Given the description of an element on the screen output the (x, y) to click on. 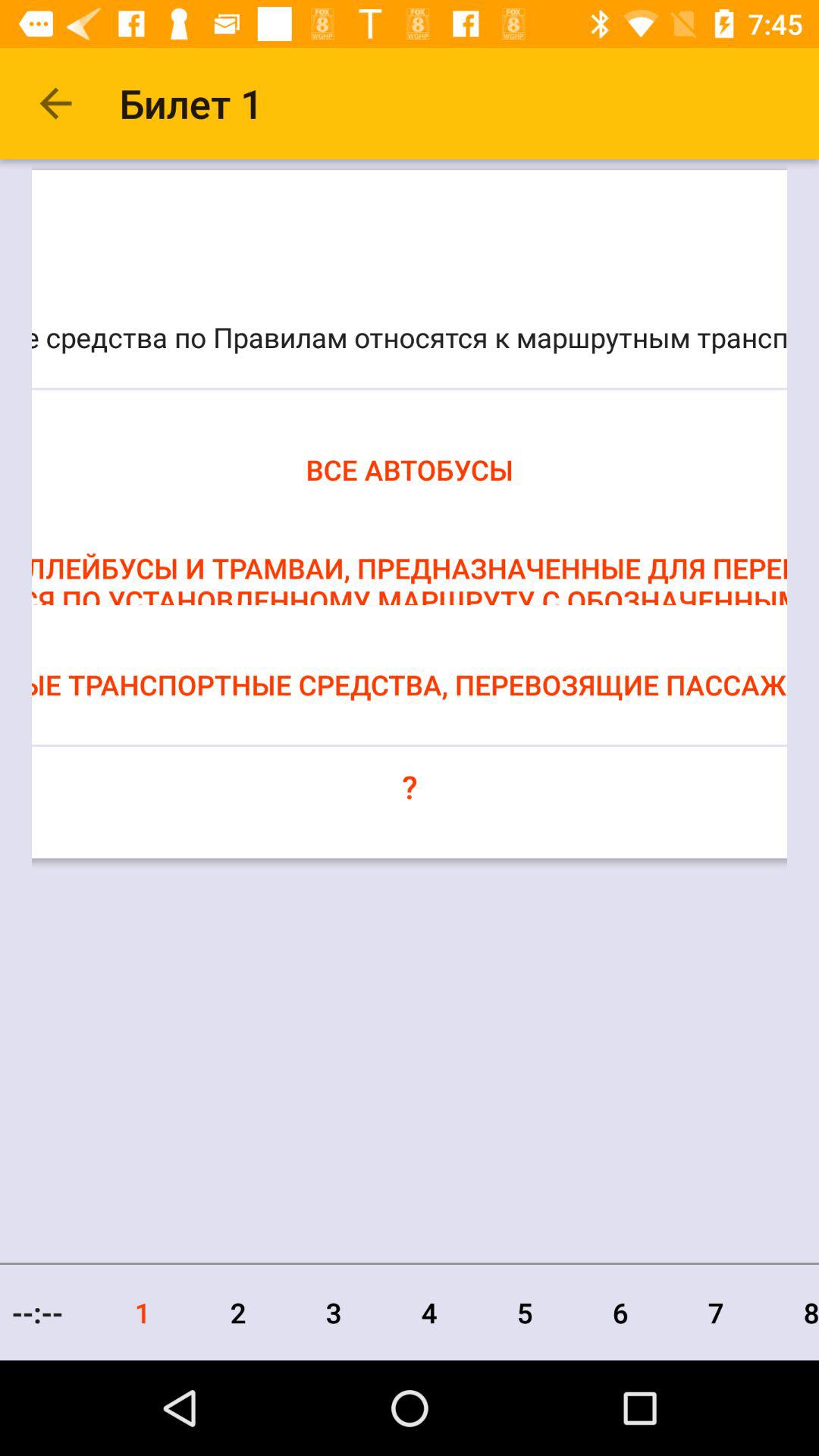
turn on the item next to 4 item (524, 1312)
